Given the description of an element on the screen output the (x, y) to click on. 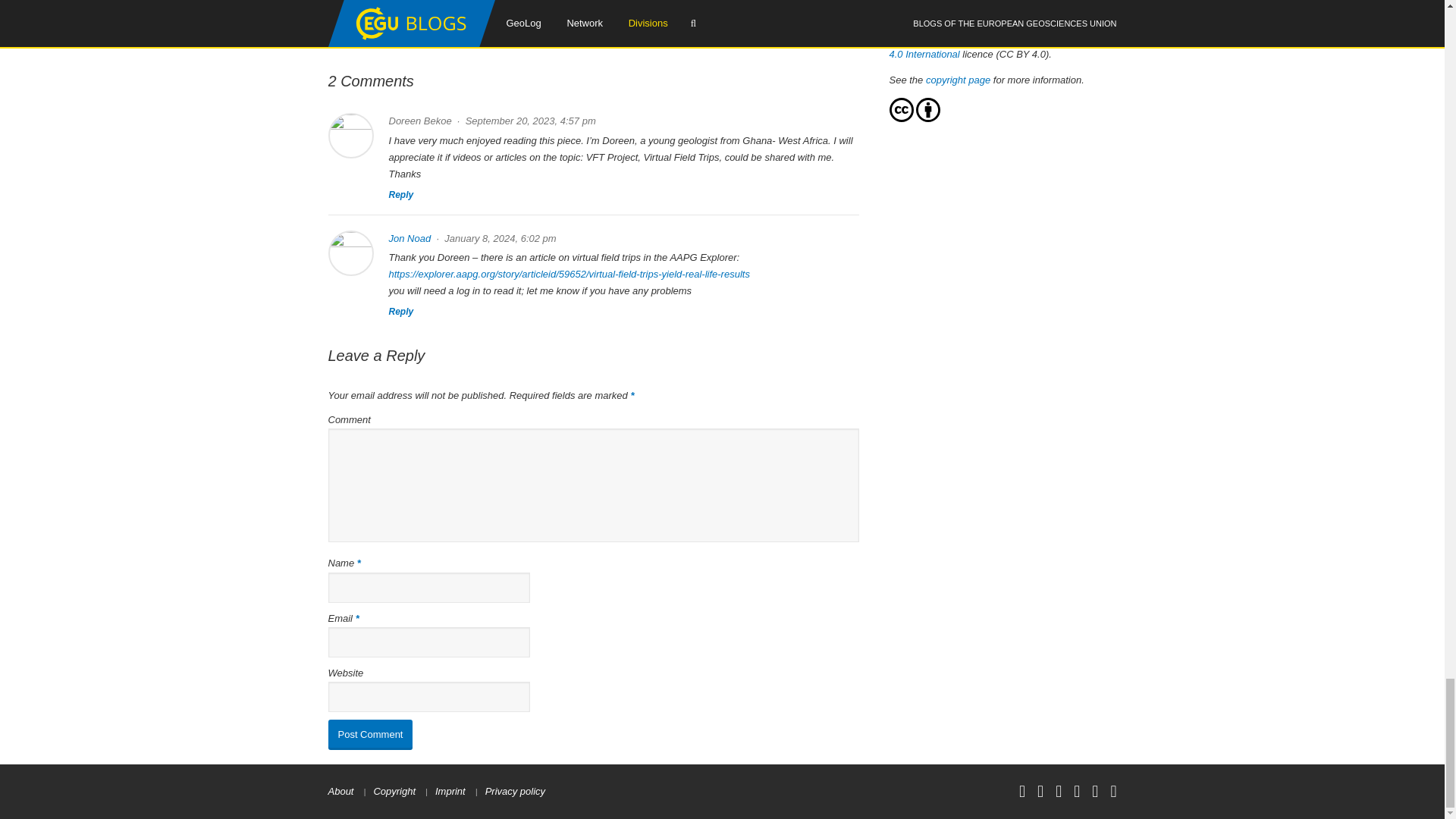
Post Comment (369, 734)
